Given the description of an element on the screen output the (x, y) to click on. 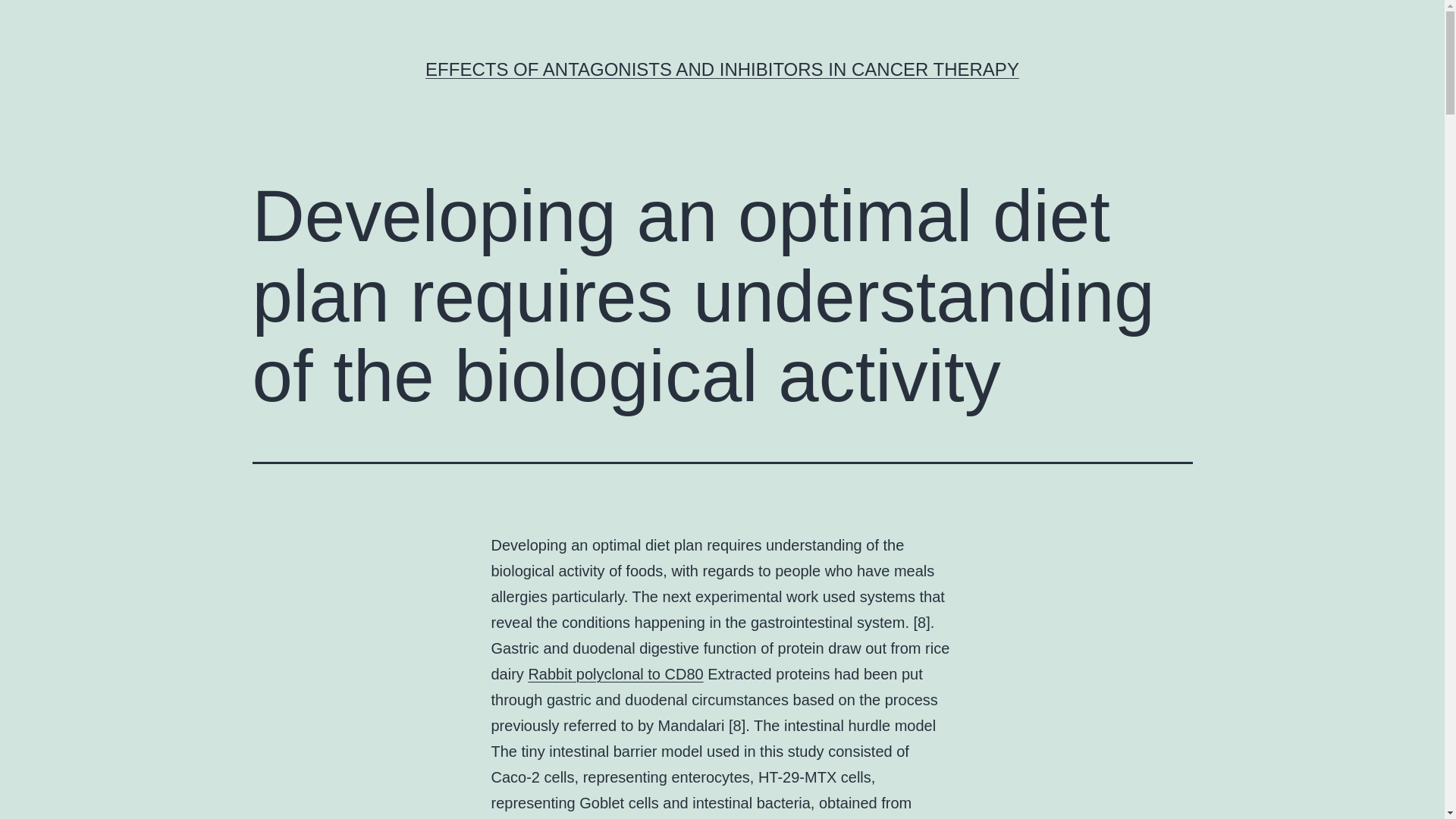
EFFECTS OF ANTAGONISTS AND INHIBITORS IN CANCER THERAPY (722, 68)
Rabbit polyclonal to CD80 (615, 673)
